Given the description of an element on the screen output the (x, y) to click on. 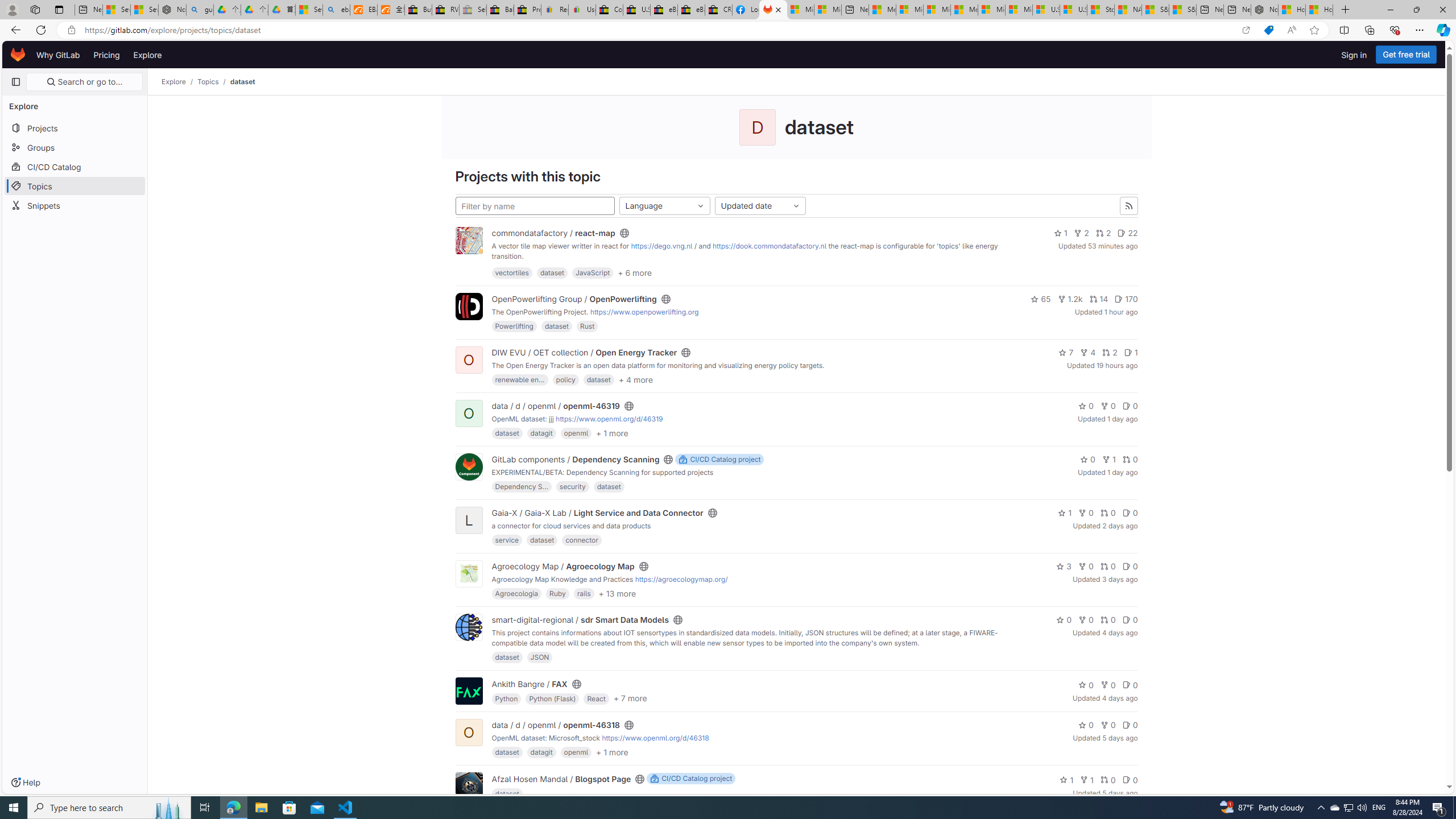
4 (1088, 352)
OpenPowerlifting Group / OpenPowerlifting (574, 299)
+ 4 more (635, 379)
vectortiles (511, 272)
Groups (74, 147)
Press Room - eBay Inc. (527, 9)
3 (1063, 566)
Browser essentials (1394, 29)
Topics/ (214, 81)
guge yunpan - Search (200, 9)
Sell worldwide with eBay - Sleeping (473, 9)
Language (664, 205)
